Given the description of an element on the screen output the (x, y) to click on. 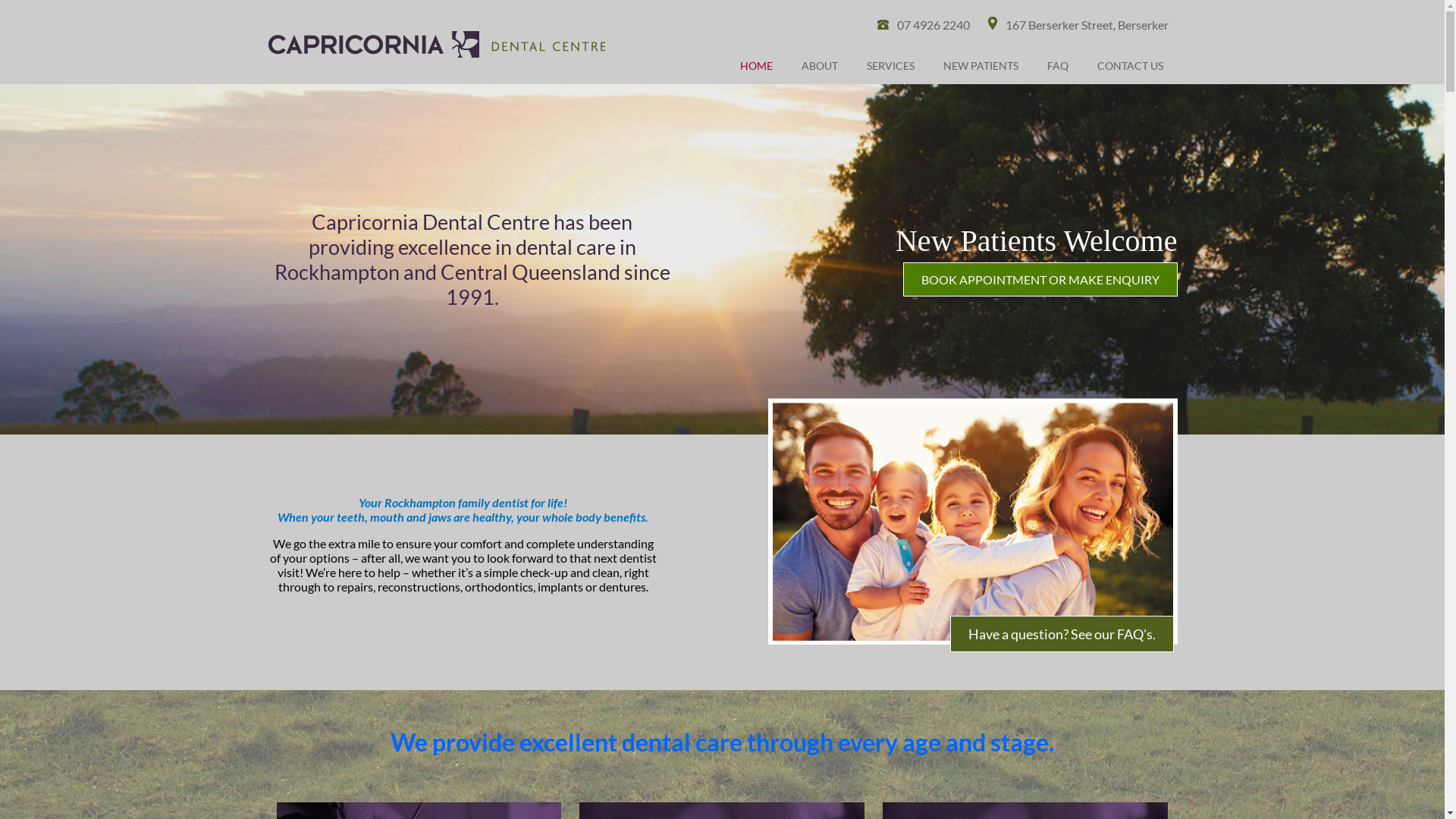
Have a question? See our FAQ's. Element type: text (1061, 633)
HOME Element type: text (755, 65)
07 4926 2240 Element type: text (922, 24)
CONTACT US Element type: text (1129, 65)
BOOK APPOINTMENT OR MAKE ENQUIRY Element type: text (1039, 279)
NEW PATIENTS Element type: text (980, 65)
167 Berserker Street, Berserker Element type: text (1077, 24)
FAQ Element type: text (1057, 65)
SERVICES Element type: text (890, 65)
ABOUT Element type: text (819, 65)
